Given the description of an element on the screen output the (x, y) to click on. 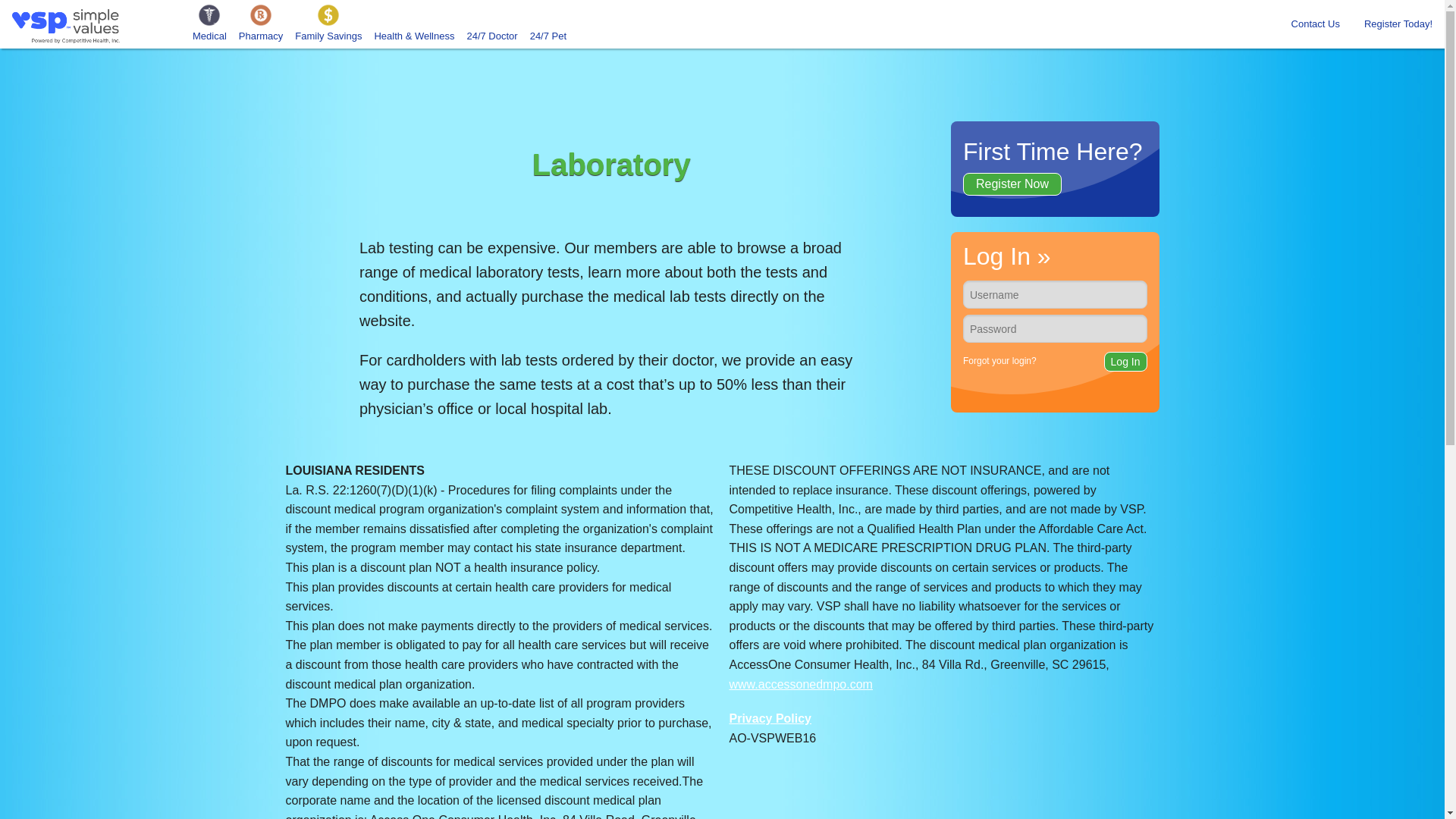
Fitness (414, 72)
Medical (209, 24)
Medical Discount Plan (209, 72)
Pharmacy (260, 24)
Laboratory (414, 218)
Daily Living Products (414, 169)
Family Savings (328, 24)
Hearing Care (209, 121)
Forgot your login? (999, 360)
Cash Rewards (328, 72)
